Given the description of an element on the screen output the (x, y) to click on. 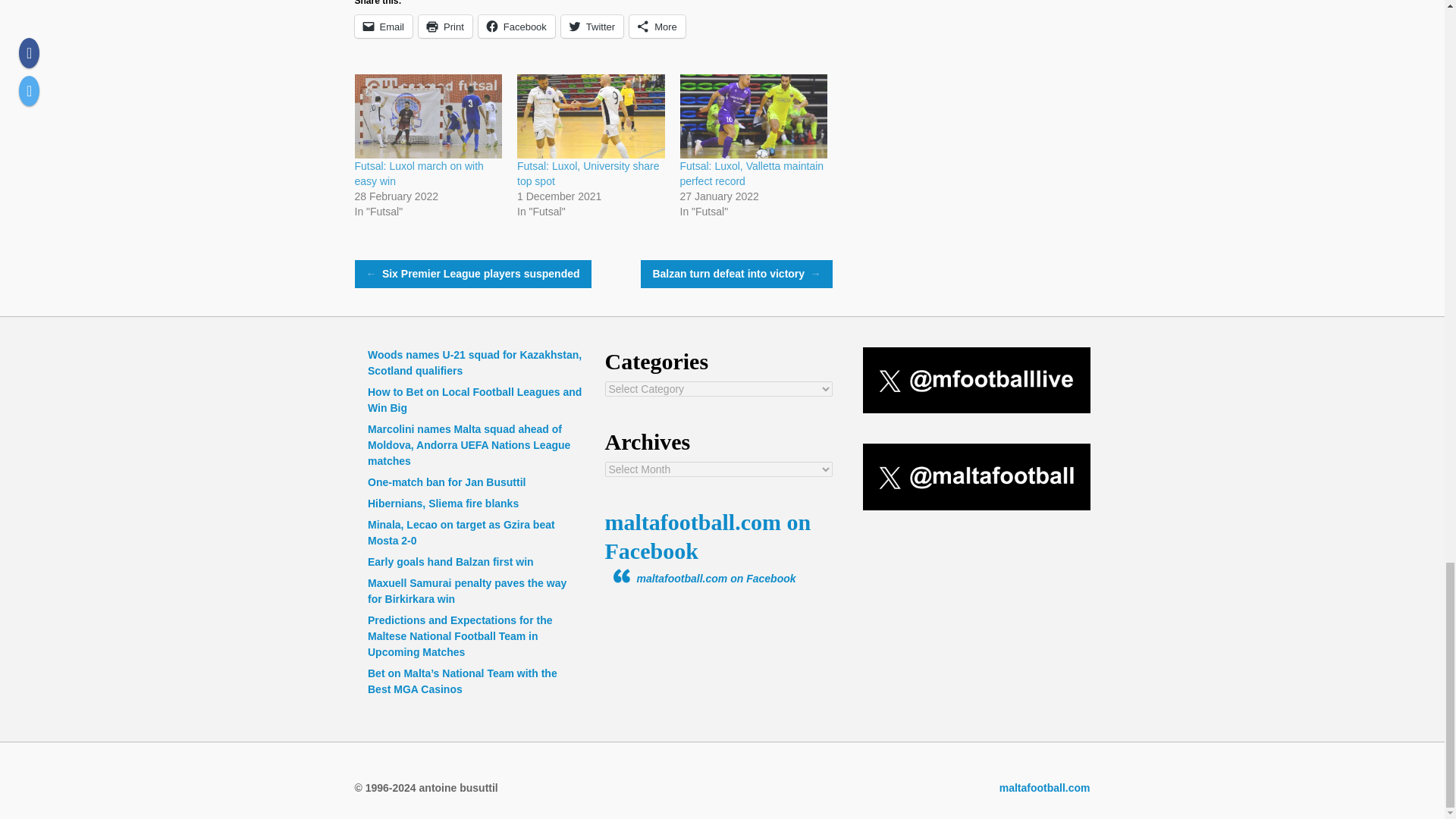
Futsal: Luxol march on with easy win (419, 173)
Click to share on Facebook (516, 26)
Futsal: Luxol, University share top spot (590, 116)
Click to print (445, 26)
Click to share on Twitter (591, 26)
Futsal: Luxol march on with easy win (428, 116)
Click to email a link to a friend (384, 26)
